Given the description of an element on the screen output the (x, y) to click on. 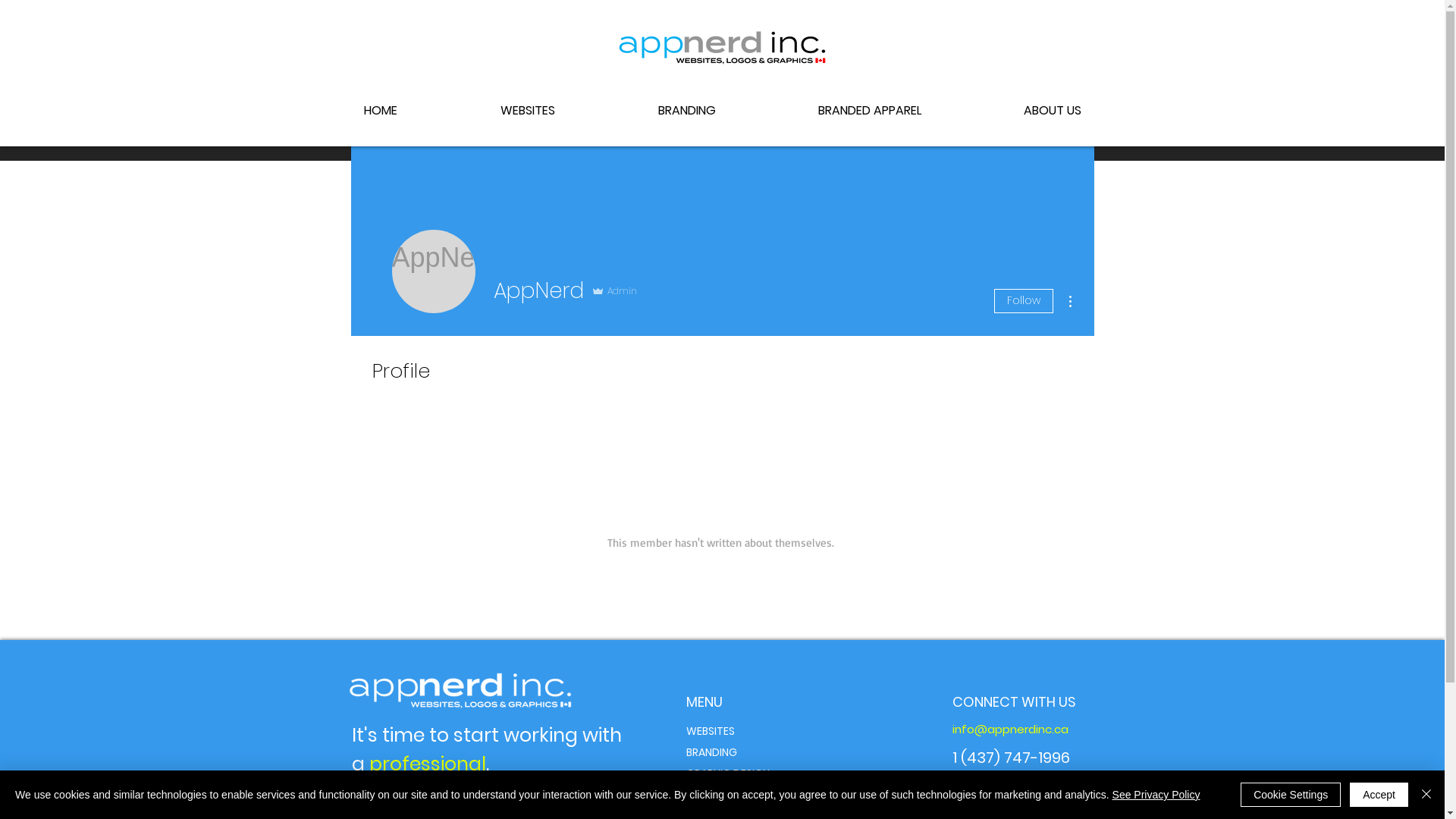
ON Element type: text (1006, 782)
WEBSITES Element type: text (527, 110)
BRANDING Element type: text (686, 110)
WEBSITES Element type: text (709, 730)
info@appnerdinc.ca Element type: text (1010, 729)
BRANDED APPAREL Element type: text (868, 110)
Accept Element type: text (1378, 794)
Cookie Settings Element type: text (1290, 794)
AppNerd Element type: hover (432, 271)
1 (437) 747-1996 Element type: text (1011, 757)
Follow Element type: text (1022, 300)
BRANDED APPAREL Element type: text (730, 794)
See Privacy Policy Element type: text (1156, 794)
BRANDING Element type: text (710, 751)
HOME Element type: text (380, 110)
GRAPHIC DESIGN Element type: text (726, 773)
